Given the description of an element on the screen output the (x, y) to click on. 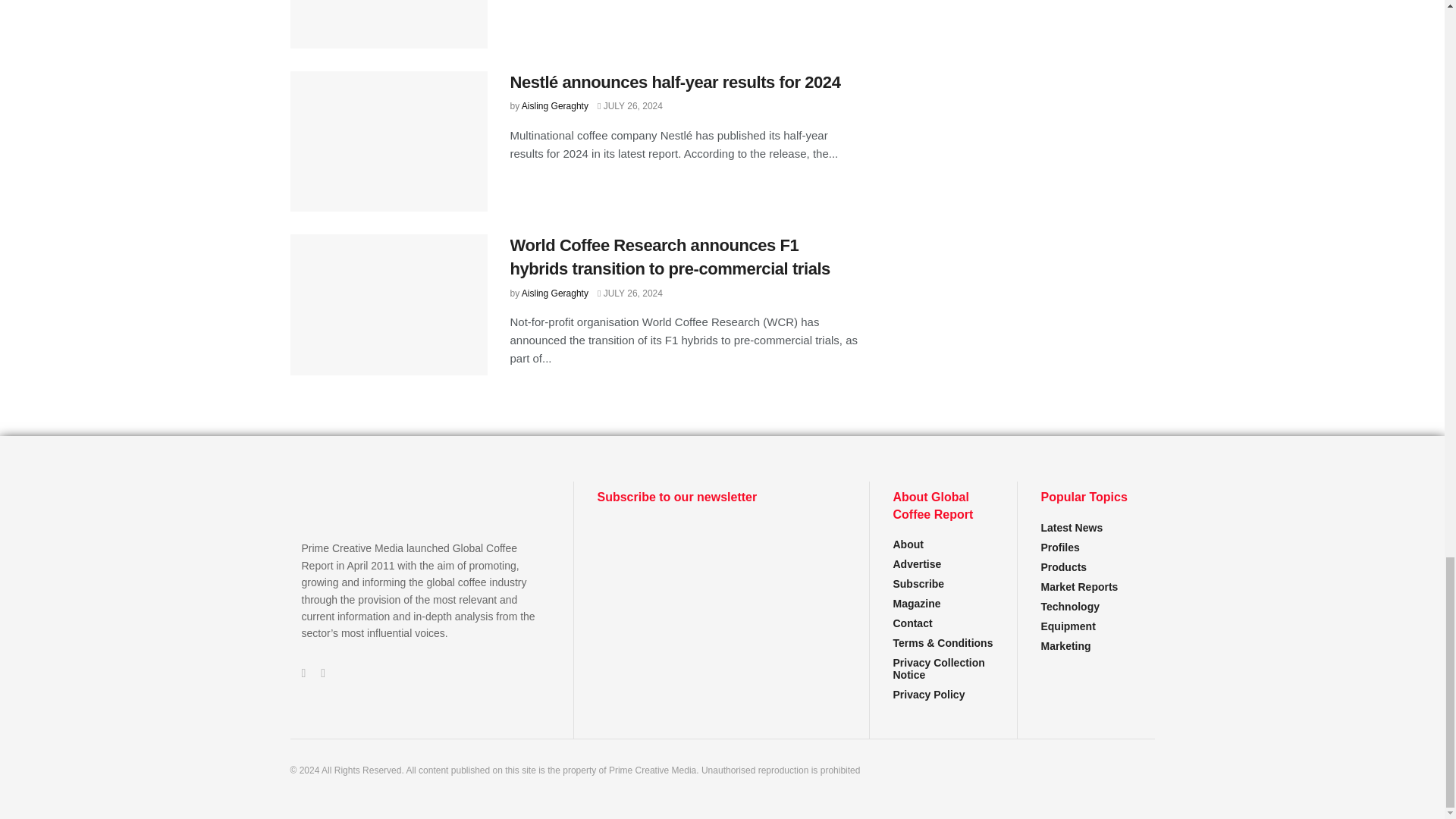
Newsletter signup for Footer (720, 578)
